Given the description of an element on the screen output the (x, y) to click on. 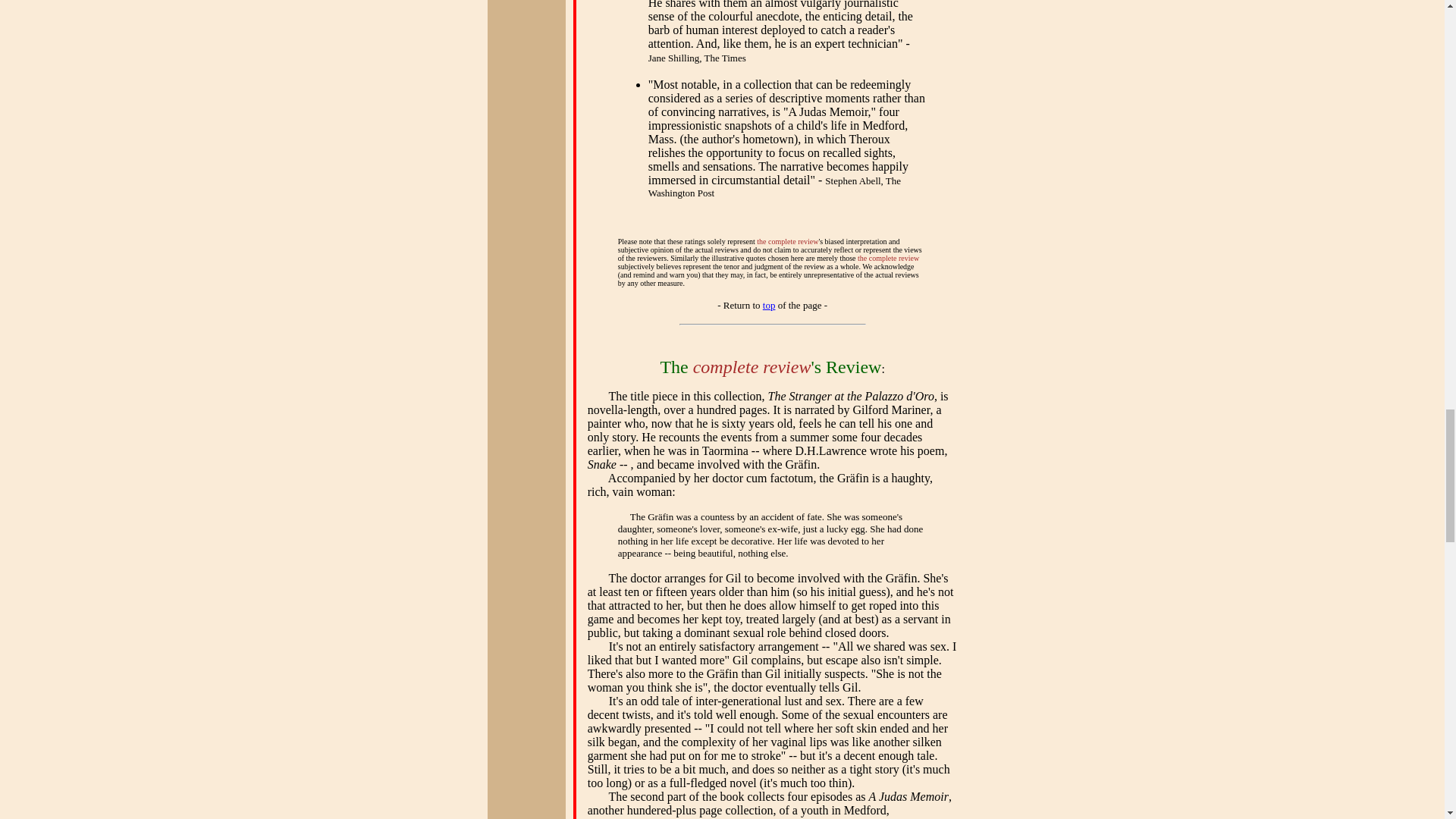
top (769, 305)
